Given the description of an element on the screen output the (x, y) to click on. 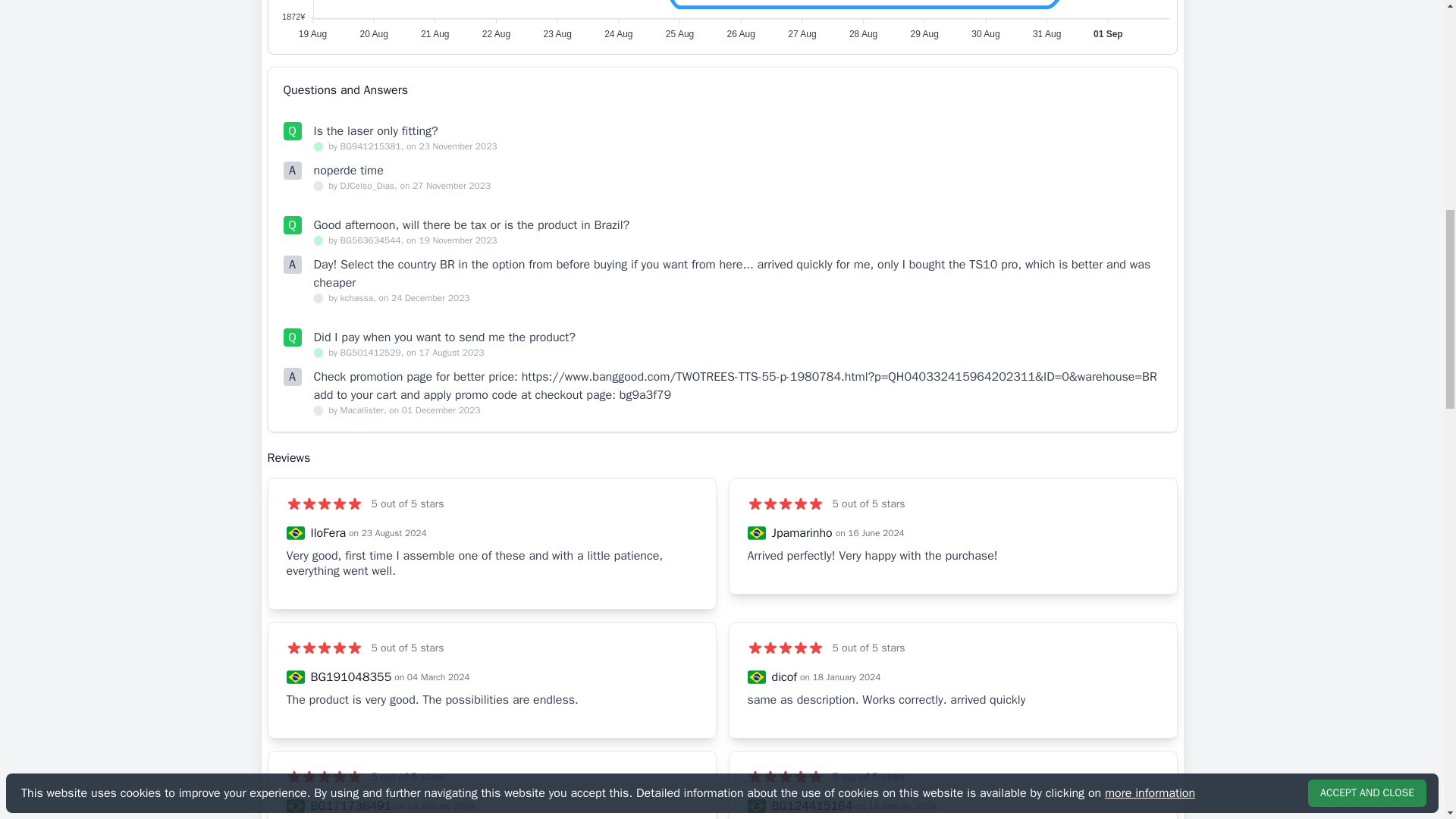
BR (756, 533)
BR (295, 533)
BR (756, 677)
BR (756, 805)
BR (295, 677)
BR (295, 805)
